Given the description of an element on the screen output the (x, y) to click on. 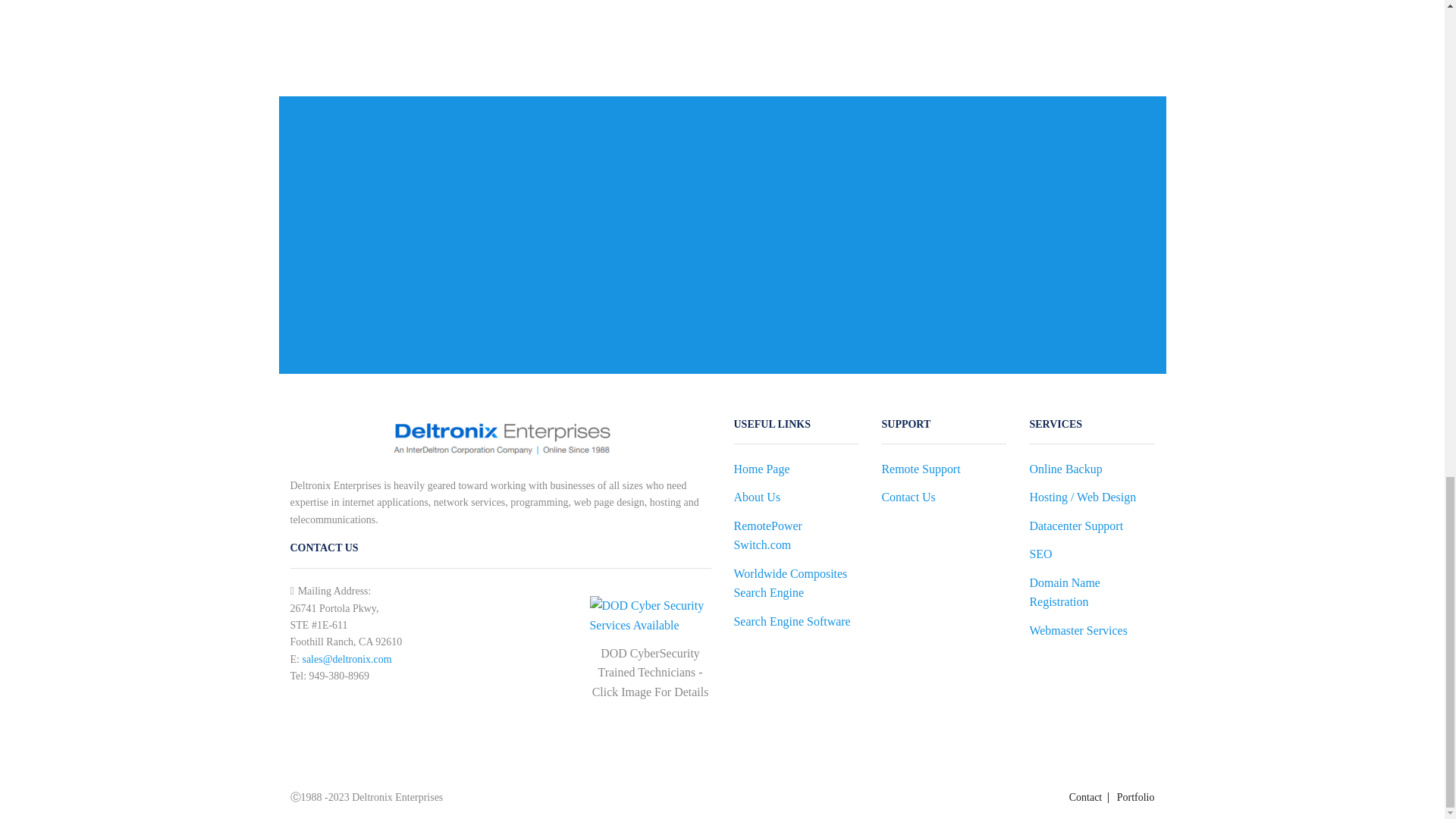
About Us (756, 497)
Home Page (761, 471)
Sign up (330, 289)
